Given the description of an element on the screen output the (x, y) to click on. 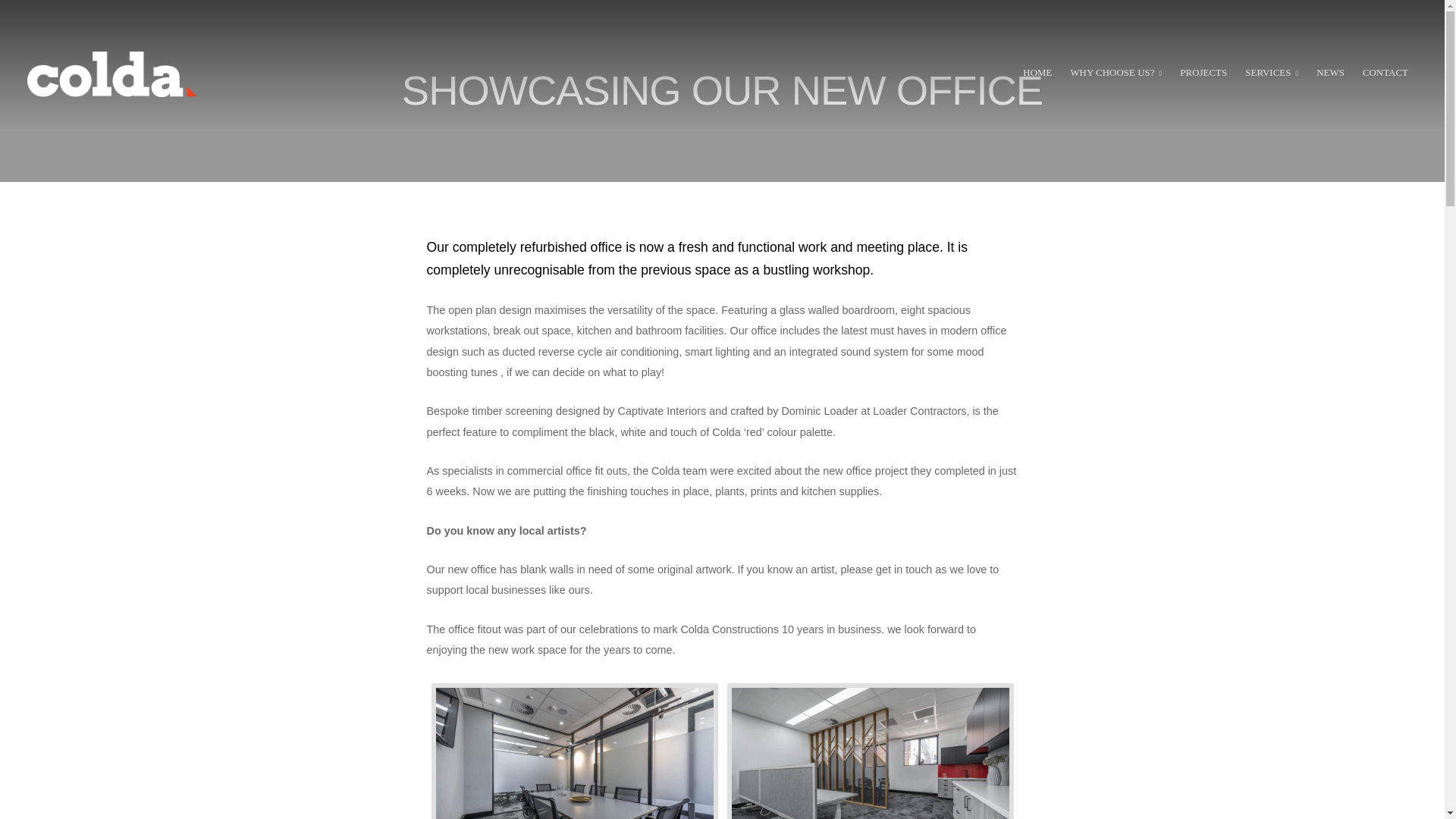
HOME (1037, 73)
SERVICES (1271, 73)
NEWS (1329, 73)
WHY CHOOSE US? (1115, 73)
CONTACT (1384, 73)
PROJECTS (1203, 73)
